Given the description of an element on the screen output the (x, y) to click on. 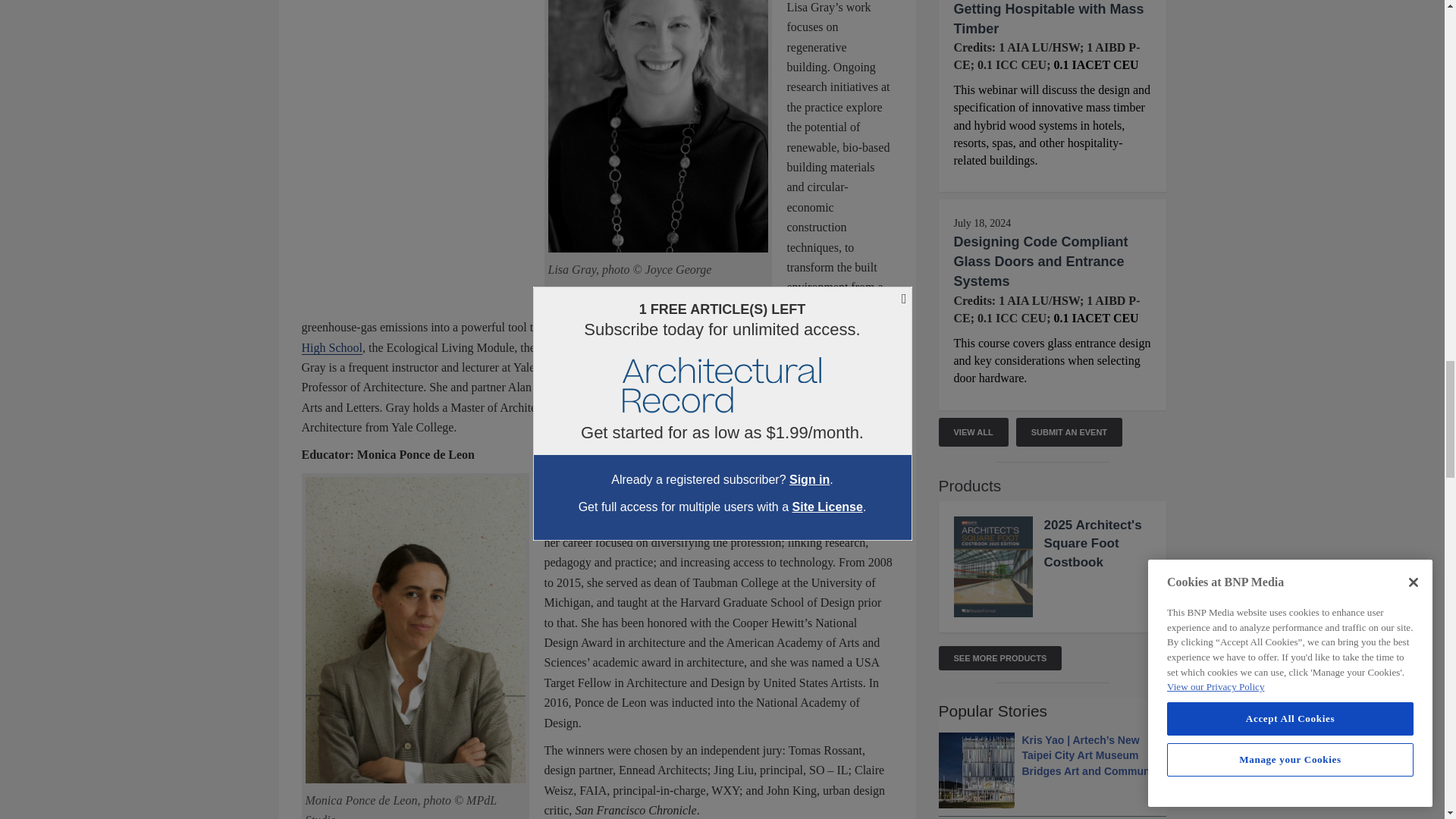
Designing Code Compliant Glass Doors and Entrance Systems (1040, 261)
Getting Hospitable with Mass Timber (1048, 18)
